Given the description of an element on the screen output the (x, y) to click on. 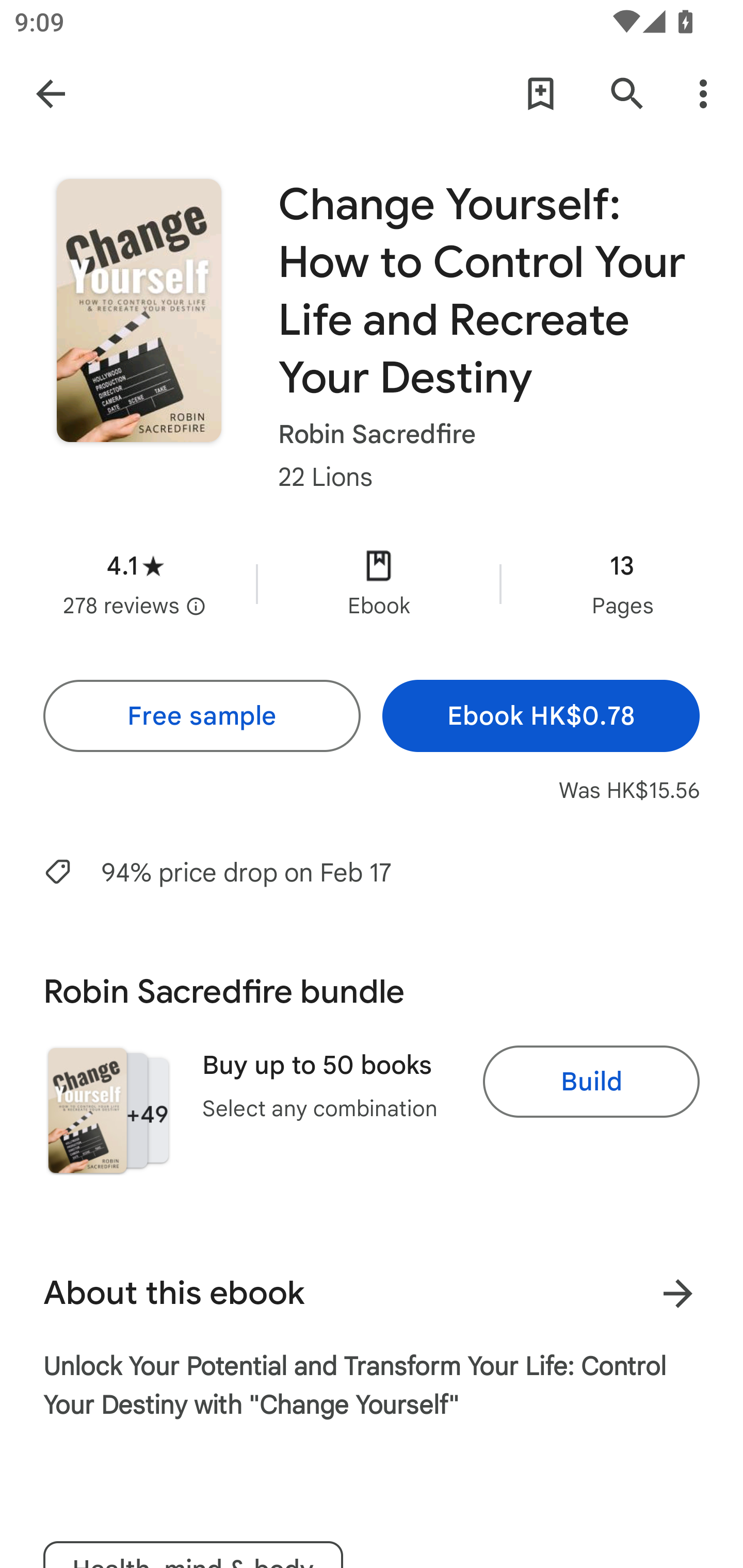
Navigate up (50, 92)
Add to wishlist (540, 93)
Search Google Play (626, 93)
More options (706, 93)
Free sample (201, 716)
Ebook HK$0.78 (540, 716)
Build (590, 1081)
More results for About this ebook (677, 1293)
